Given the description of an element on the screen output the (x, y) to click on. 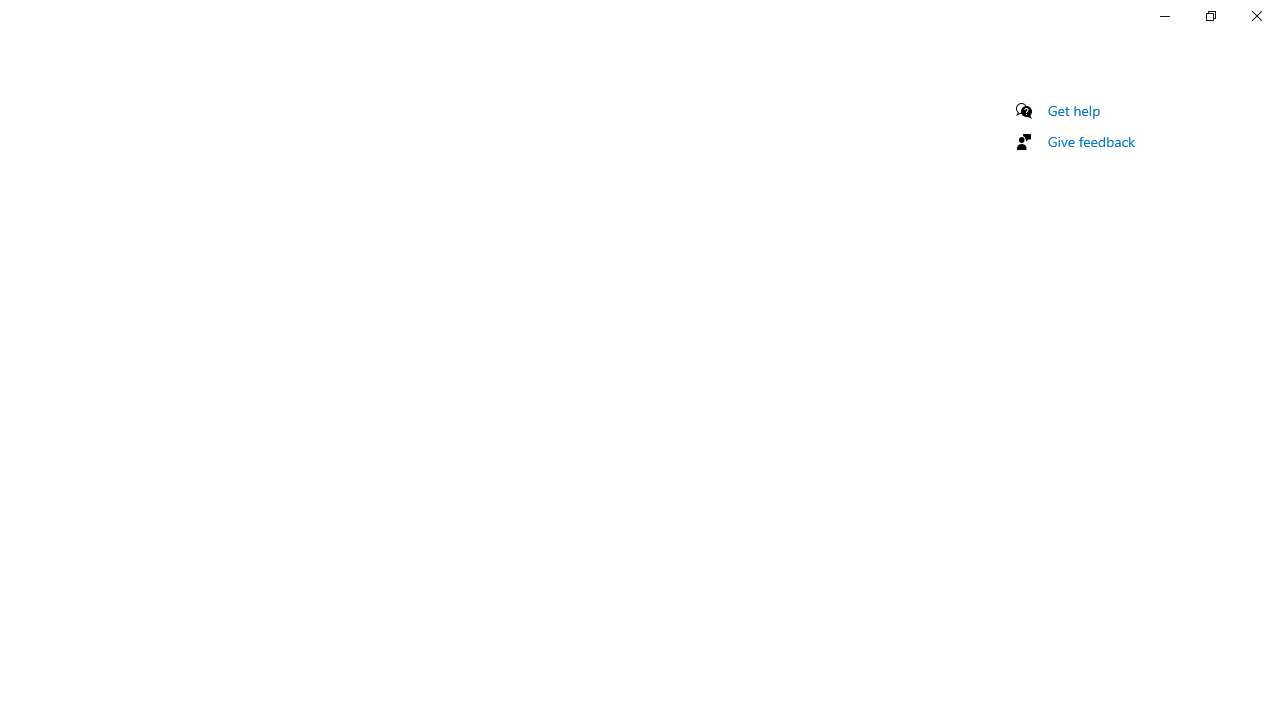
Close Settings (1256, 15)
Restore Settings (1210, 15)
Minimize Settings (1164, 15)
Get help (1074, 110)
Give feedback (1091, 141)
